Given the description of an element on the screen output the (x, y) to click on. 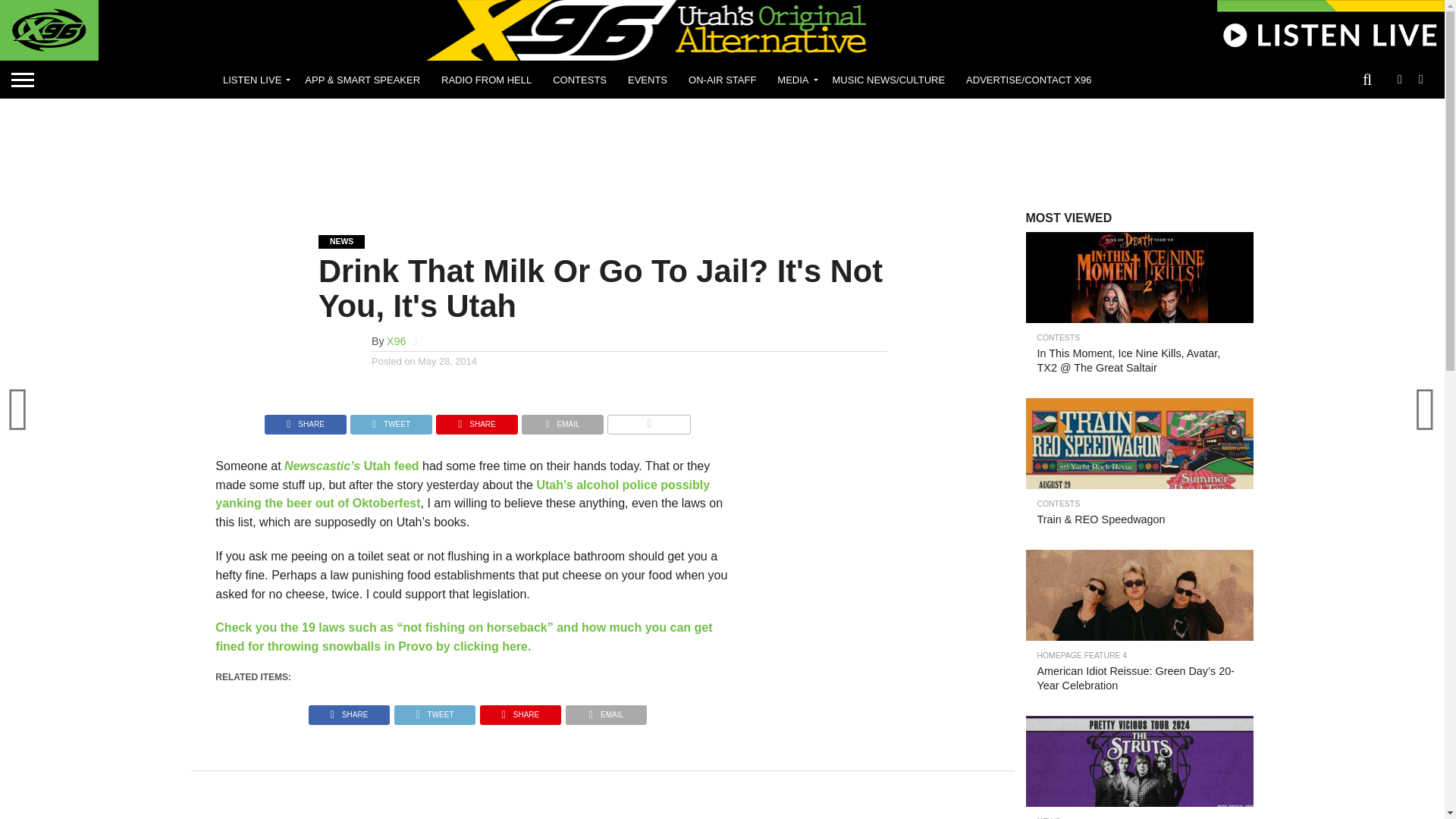
MEDIA (794, 79)
Share on Facebook (349, 710)
Pin This Post (476, 420)
Tweet This Post (434, 710)
LISTEN LIVE (253, 79)
EVENTS (647, 79)
Tweet This Post (390, 420)
Advertisement (721, 155)
In this Moment LP DIY - X96 (1138, 299)
Share on Facebook (305, 420)
